Given the description of an element on the screen output the (x, y) to click on. 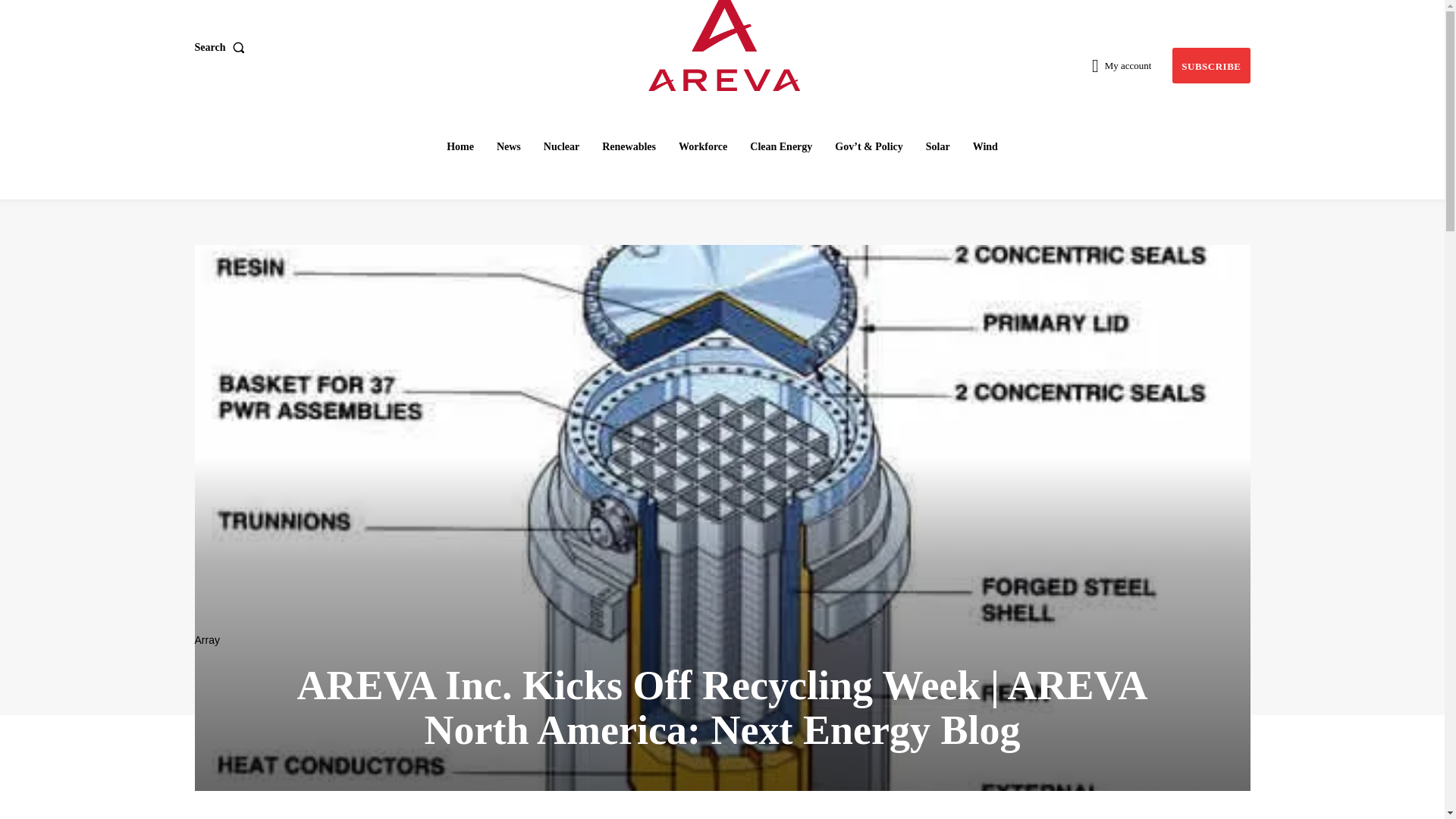
Home (460, 146)
Workforce (703, 146)
SUBSCRIBE (1210, 65)
Search (221, 47)
Solar (938, 146)
News (508, 146)
Renewables (628, 146)
Wind (985, 146)
Clean Energy (780, 146)
Nuclear (560, 146)
